Given the description of an element on the screen output the (x, y) to click on. 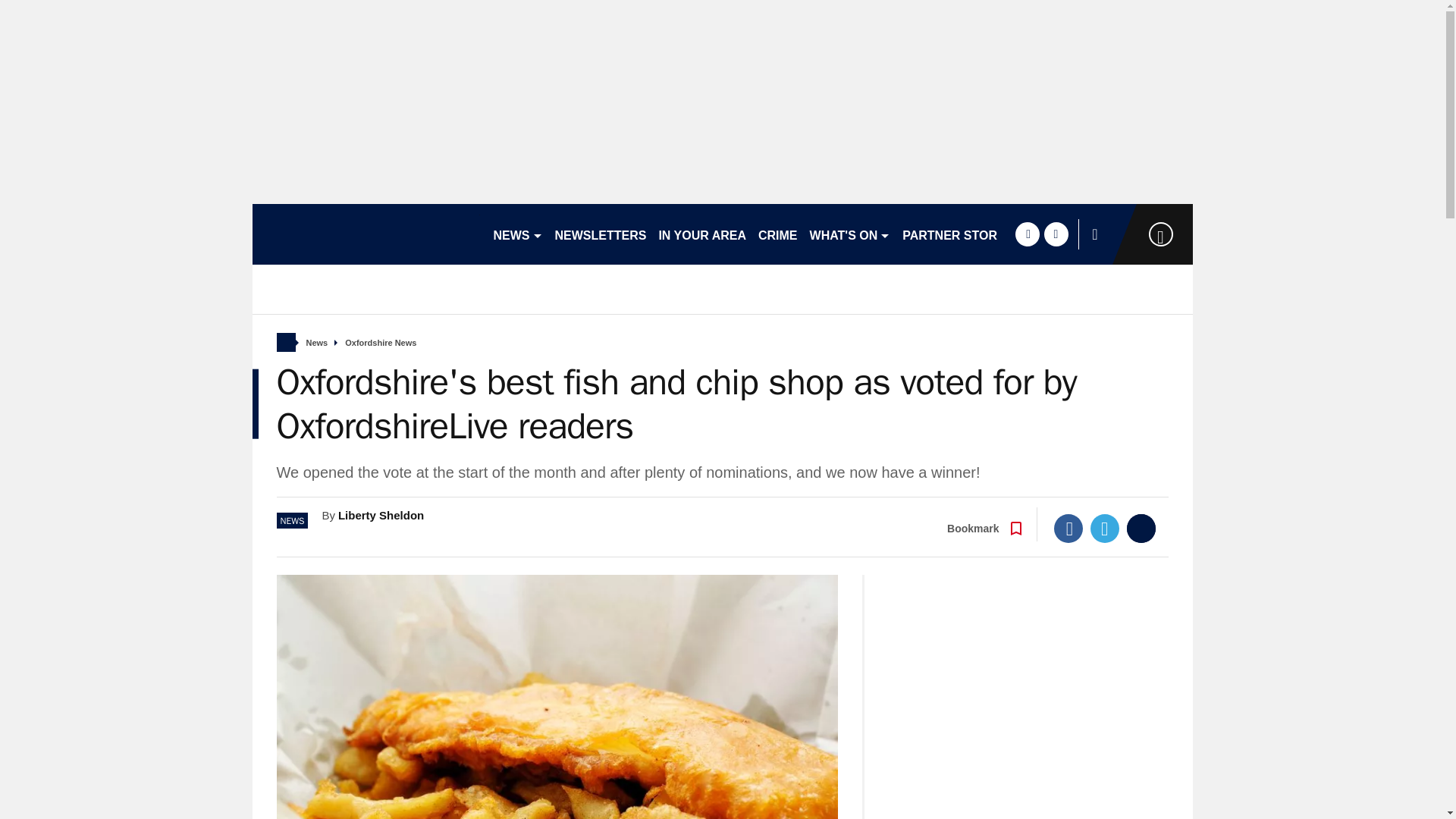
PARTNER STORIES (959, 233)
oxfordshirelive (365, 233)
NEWSLETTERS (600, 233)
WHAT'S ON (849, 233)
Facebook (1068, 528)
Twitter (1104, 528)
IN YOUR AREA (702, 233)
twitter (1055, 233)
facebook (1026, 233)
NEWS (517, 233)
